Given the description of an element on the screen output the (x, y) to click on. 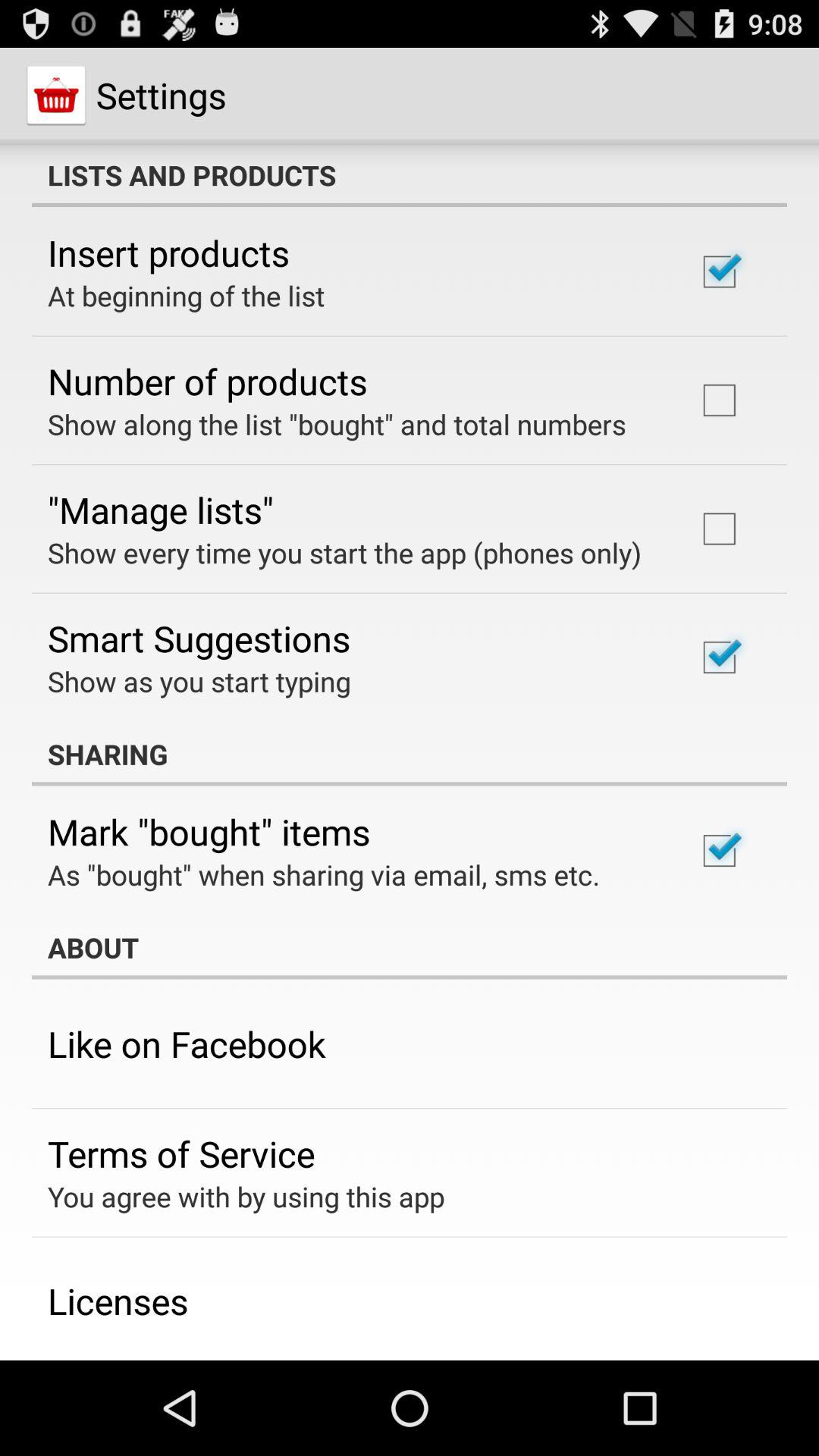
launch licenses icon (117, 1300)
